Given the description of an element on the screen output the (x, y) to click on. 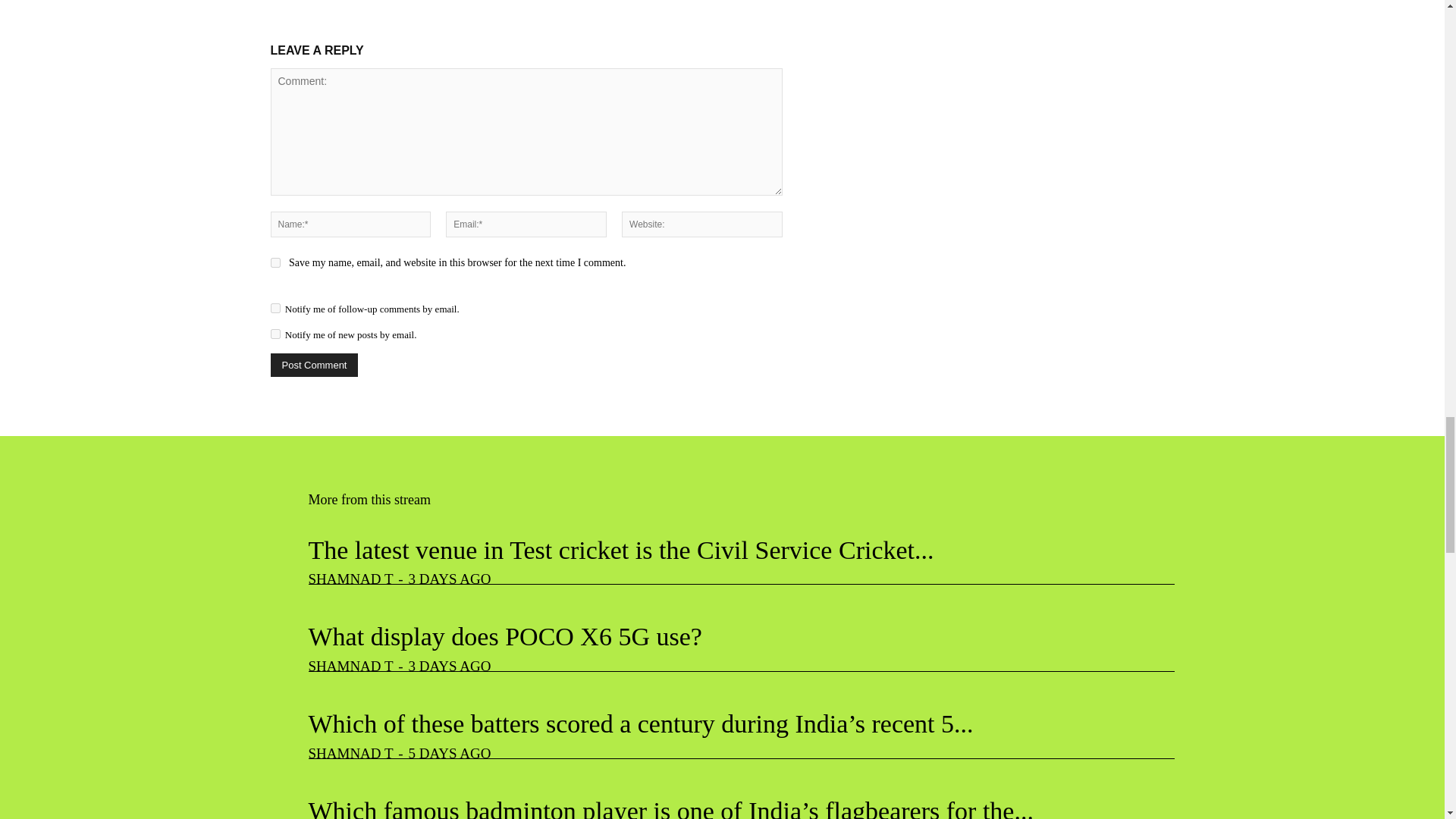
yes (274, 262)
subscribe (274, 307)
Post Comment (313, 364)
subscribe (274, 334)
